Given the description of an element on the screen output the (x, y) to click on. 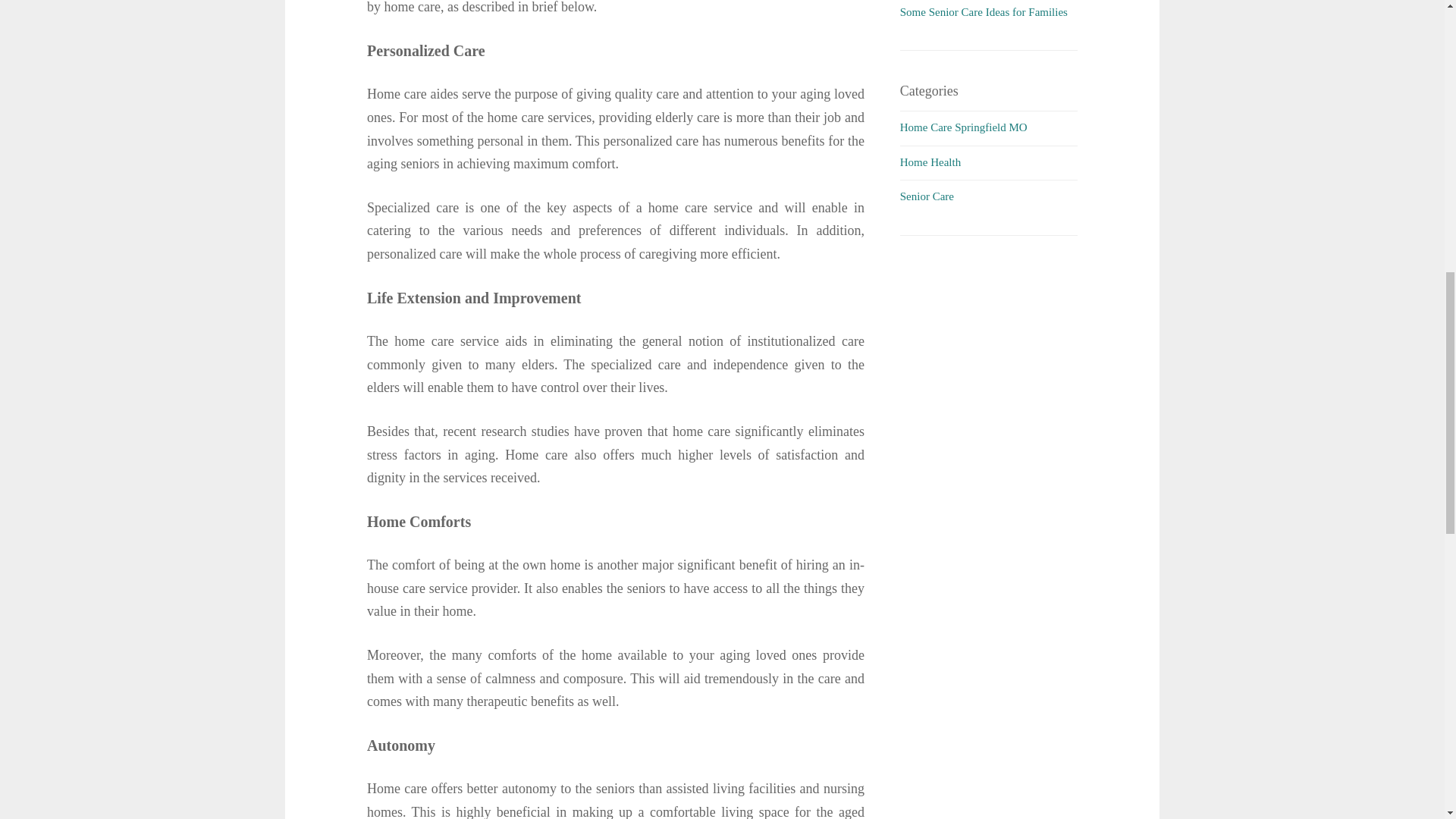
Home Care Springfield MO (963, 127)
Home Health (929, 162)
Senior Care (926, 196)
Some Senior Care Ideas for Families (983, 11)
